Given the description of an element on the screen output the (x, y) to click on. 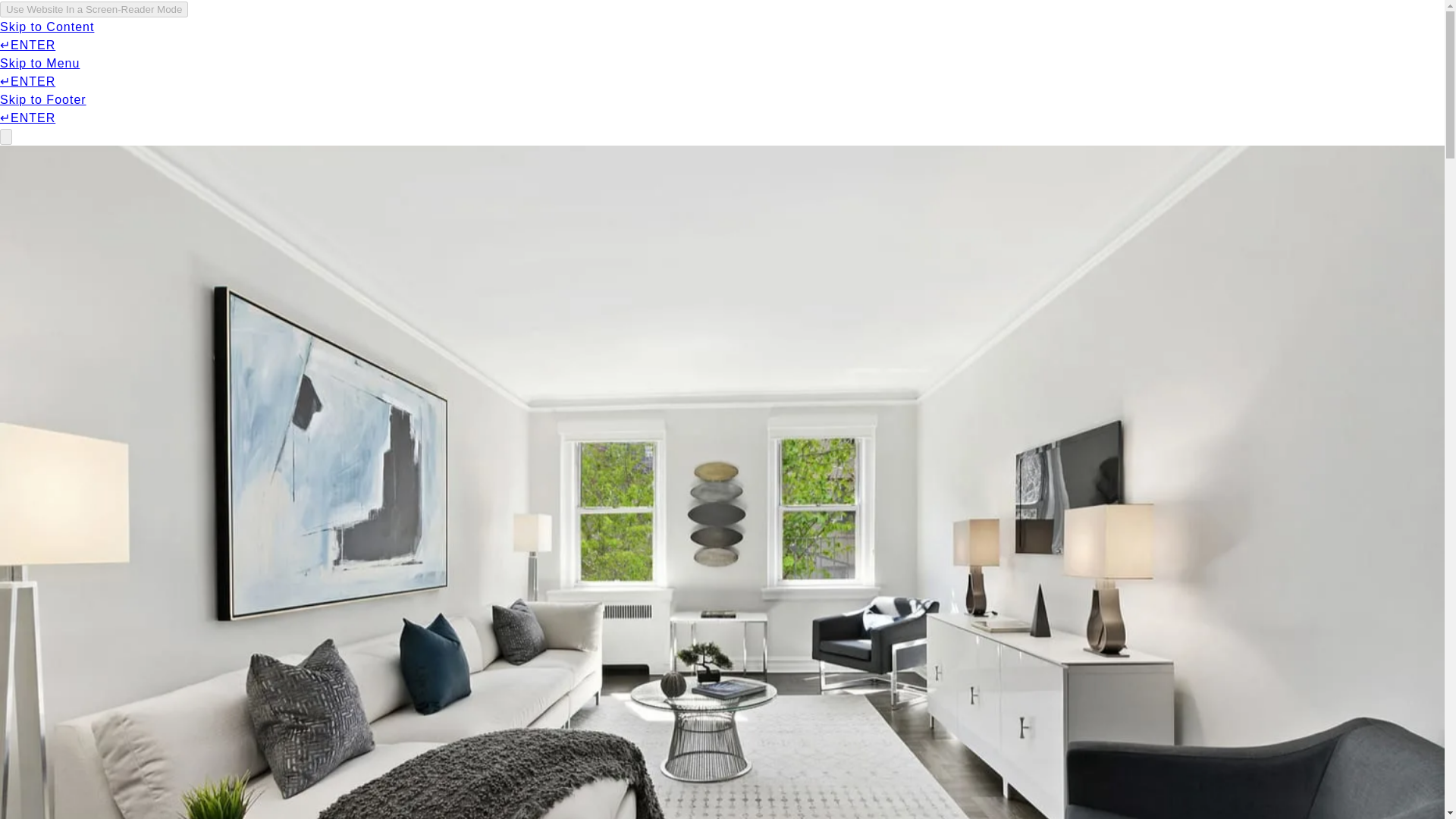
Our Properties (289, 35)
Meet the Team (1137, 35)
Menu (187, 35)
Menu (197, 35)
Contact Us (1237, 35)
Selling Your Home (1004, 35)
Finding Your Home (430, 35)
